Given the description of an element on the screen output the (x, y) to click on. 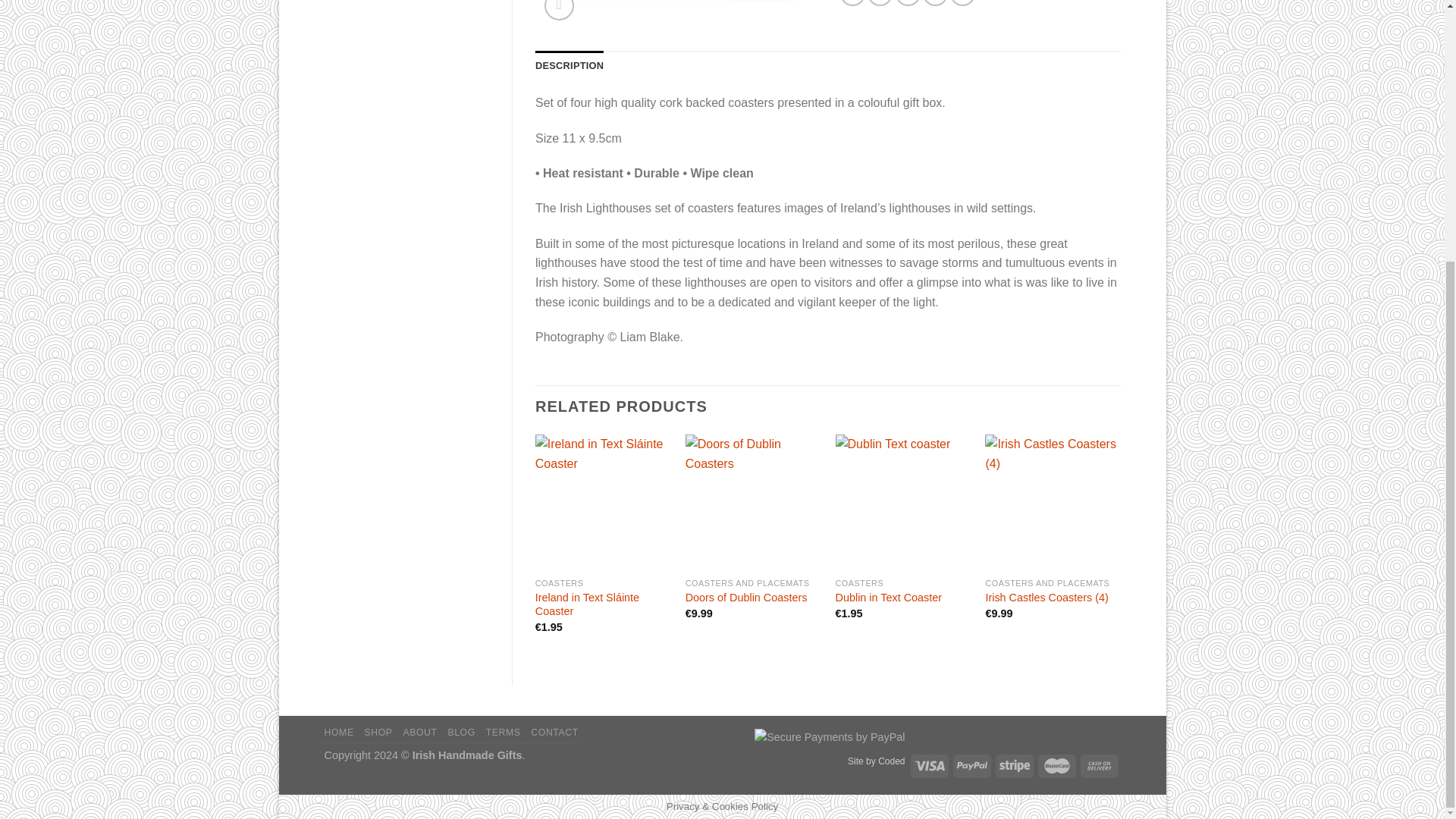
Zoom (558, 10)
DESCRIPTION (569, 65)
Share on Facebook (852, 2)
